Given the description of an element on the screen output the (x, y) to click on. 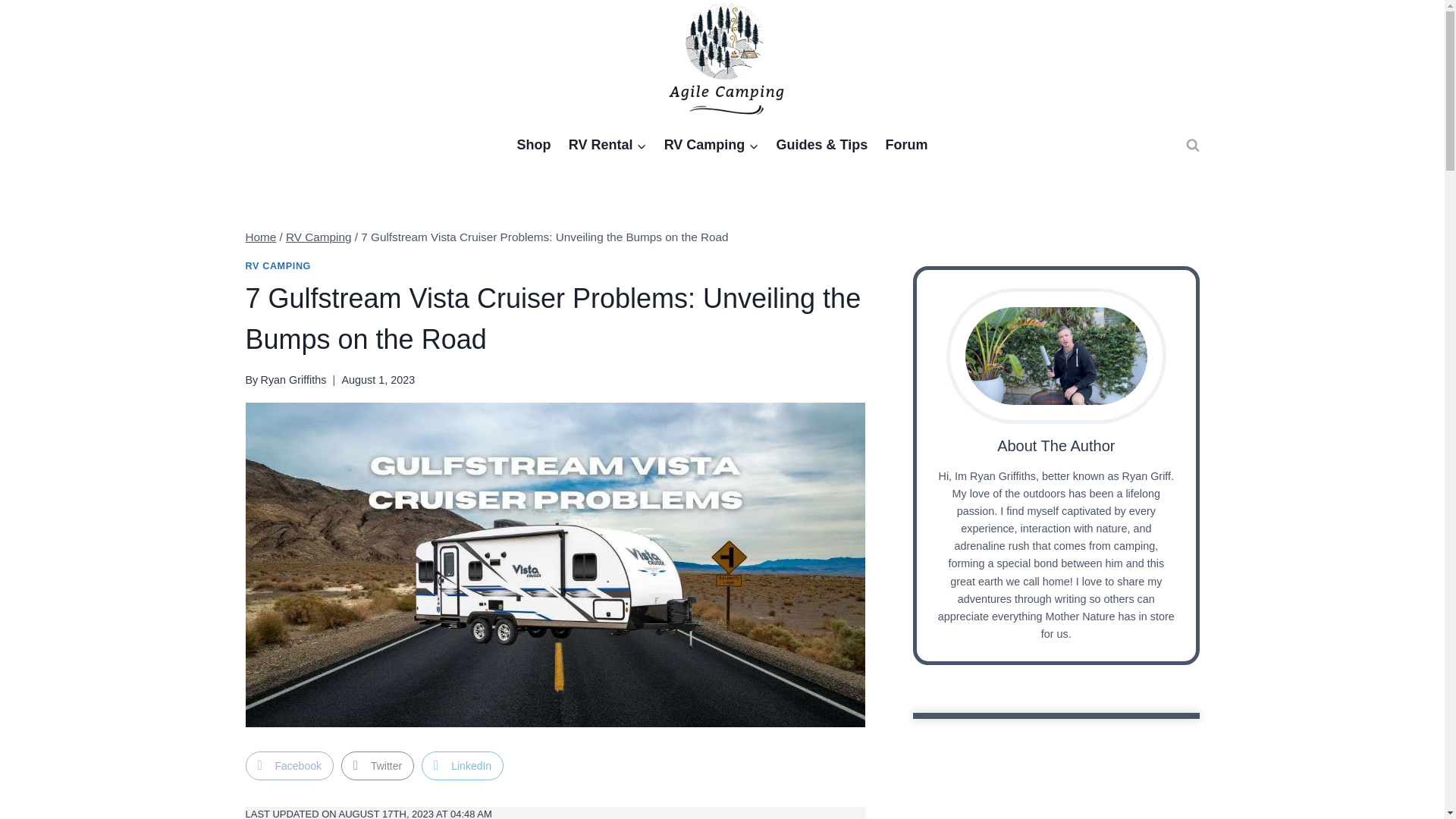
Shop (533, 144)
Home (261, 236)
Forum (906, 144)
Twitter (376, 765)
LinkedIn (462, 765)
RV Rental (607, 144)
RV Camping (711, 144)
RV CAMPING (278, 266)
Facebook (289, 765)
RV Camping (317, 236)
Ryan Griffiths (293, 379)
